Given the description of an element on the screen output the (x, y) to click on. 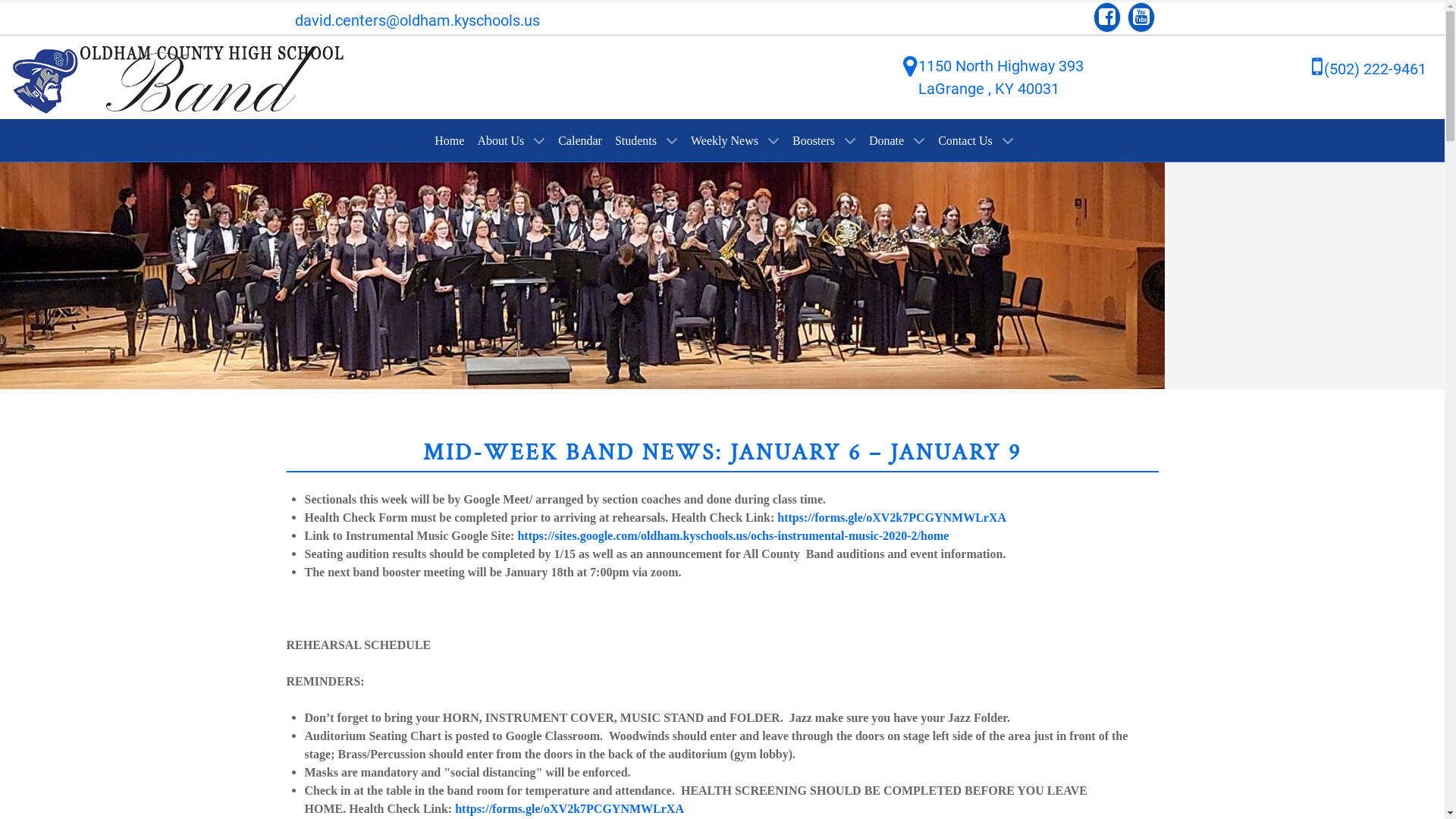
h Element type: text (520, 535)
View OCHS Band Facebook page Element type: hover (1106, 17)
1150 North Highway 393
LaGrange , KY 40031 Element type: text (1000, 76)
Contact Us Element type: text (975, 140)
Students Element type: text (646, 140)
david.centers@oldham.kyschools.us Element type: text (416, 20)
Weekly News Element type: text (735, 140)
Boosters Element type: text (823, 140)
Calendar Element type: text (579, 140)
About Us Element type: text (510, 140)
https://forms.gle/oXV2k7PCGYNMWLrXA Element type: text (569, 808)
(502) 222-9461 Element type: text (1375, 68)
Donate Element type: text (896, 140)
Brad Rogers YouTube Channel Element type: hover (1140, 17)
https://forms.gle/oXV2k7PCGYNMWLrXA Element type: text (891, 517)
Home Element type: text (448, 140)
